Given the description of an element on the screen output the (x, y) to click on. 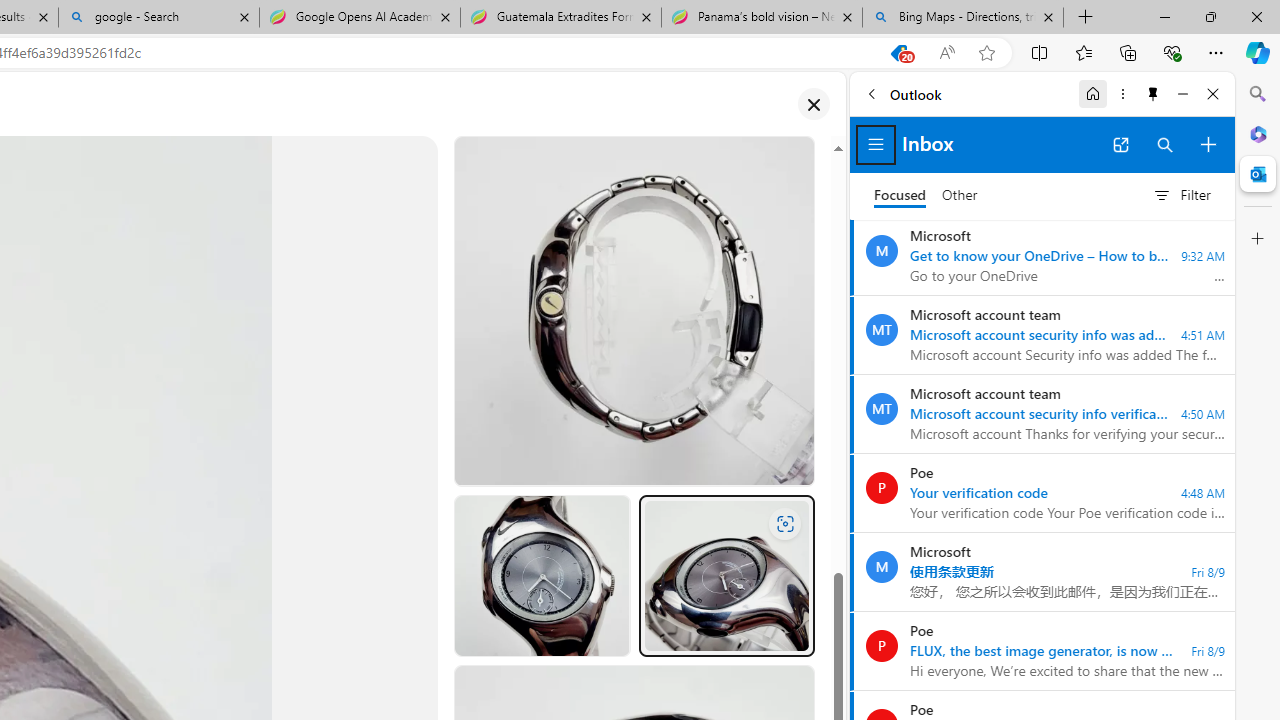
Browser essentials (1171, 52)
Unpin side pane (1153, 93)
